Given the description of an element on the screen output the (x, y) to click on. 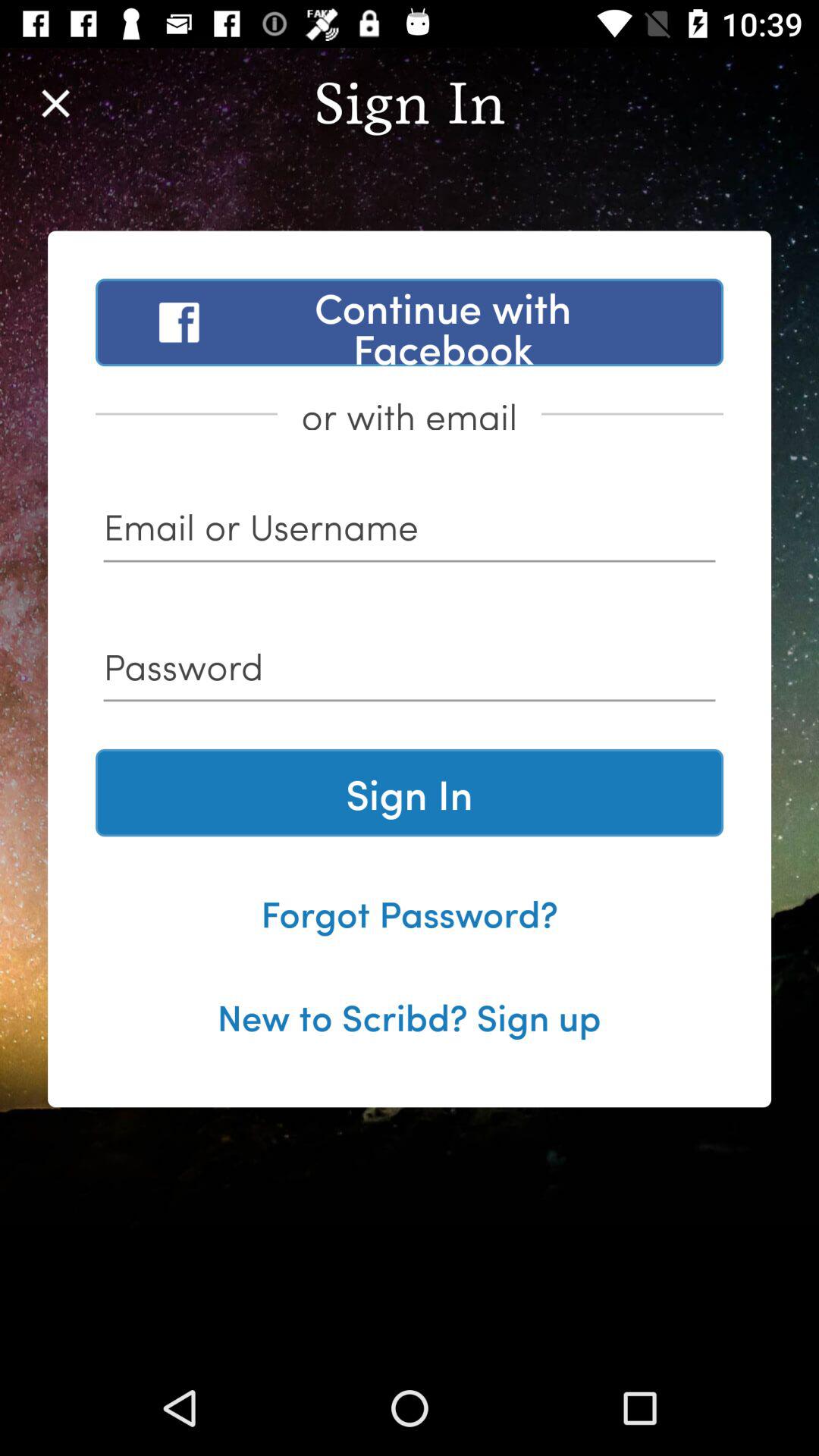
sign in username (409, 531)
